Given the description of an element on the screen output the (x, y) to click on. 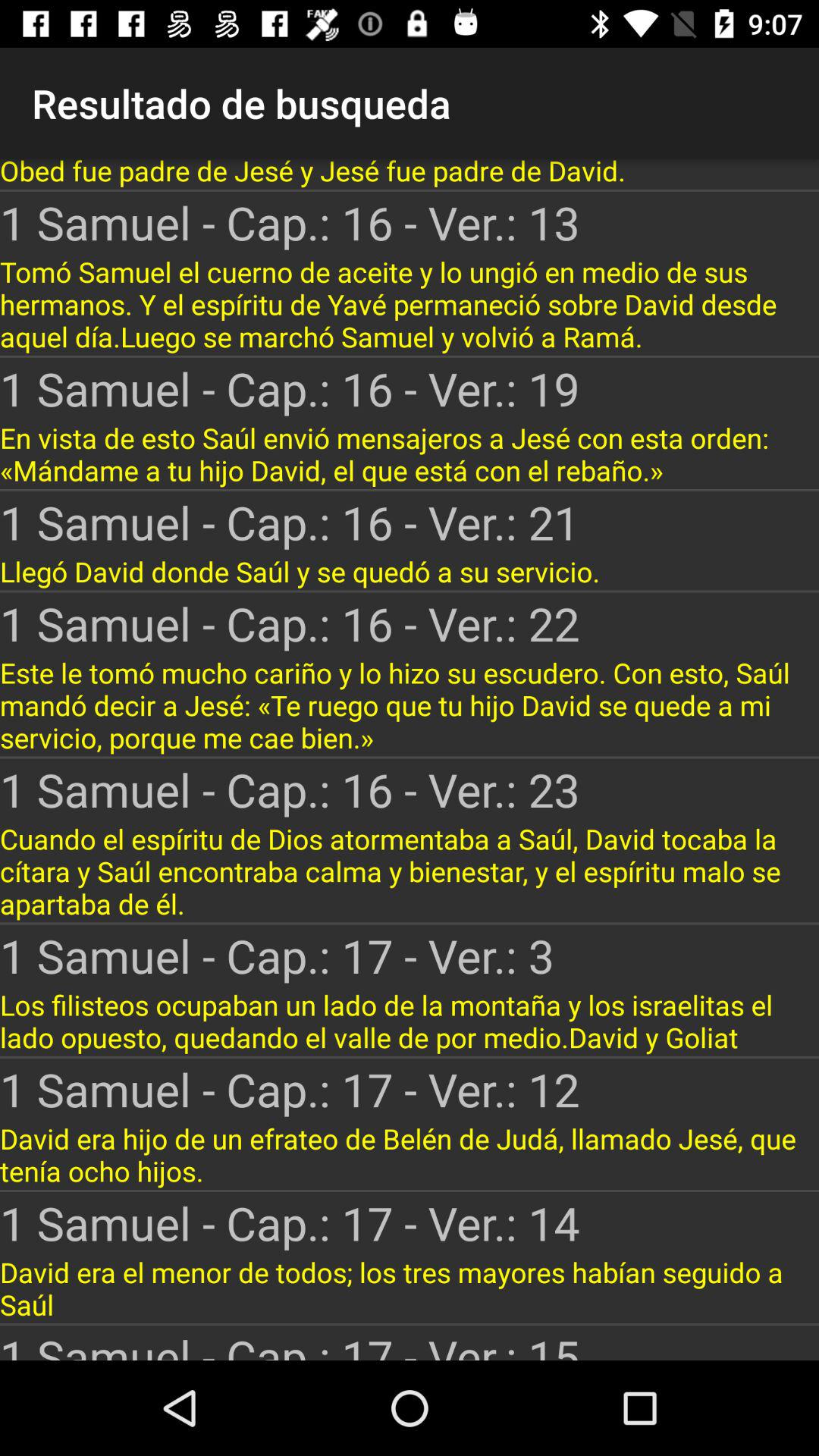
click app above the 1 samuel cap (409, 174)
